Given the description of an element on the screen output the (x, y) to click on. 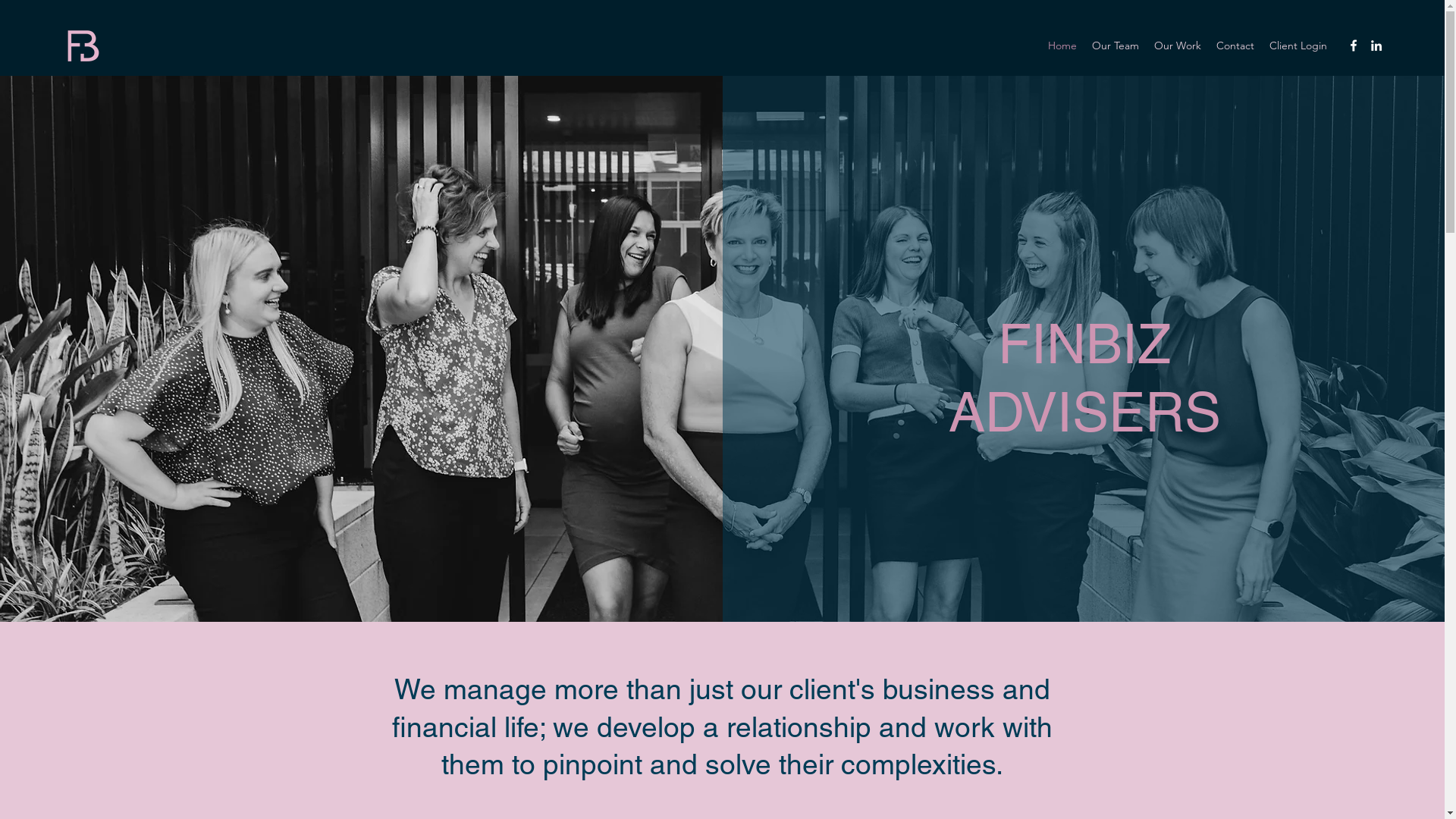
Our Work Element type: text (1177, 45)
Client Login Element type: text (1297, 45)
Our Team Element type: text (1115, 45)
Home Element type: text (1062, 45)
Contact Element type: text (1234, 45)
